Given the description of an element on the screen output the (x, y) to click on. 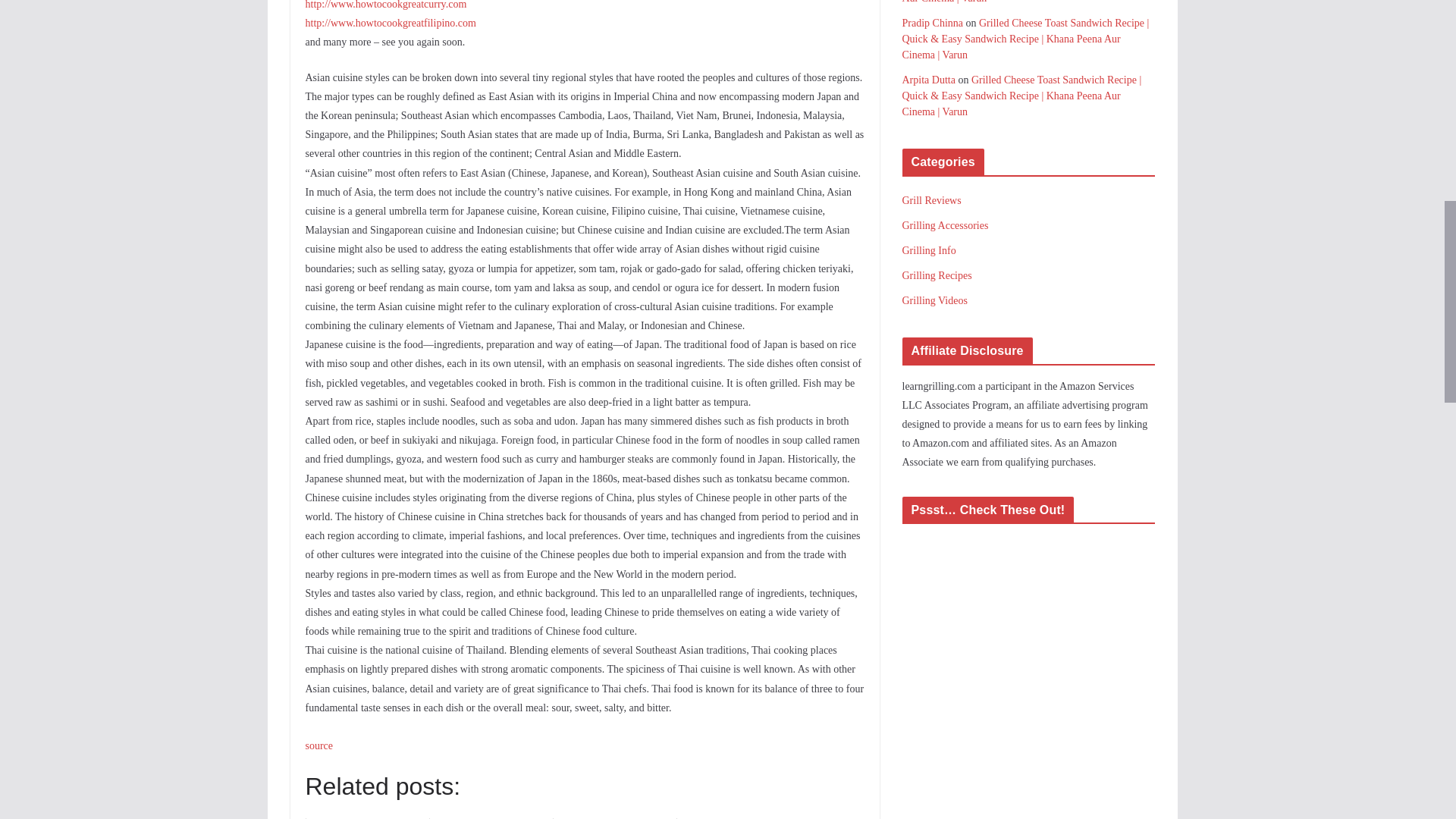
source (318, 745)
